Given the description of an element on the screen output the (x, y) to click on. 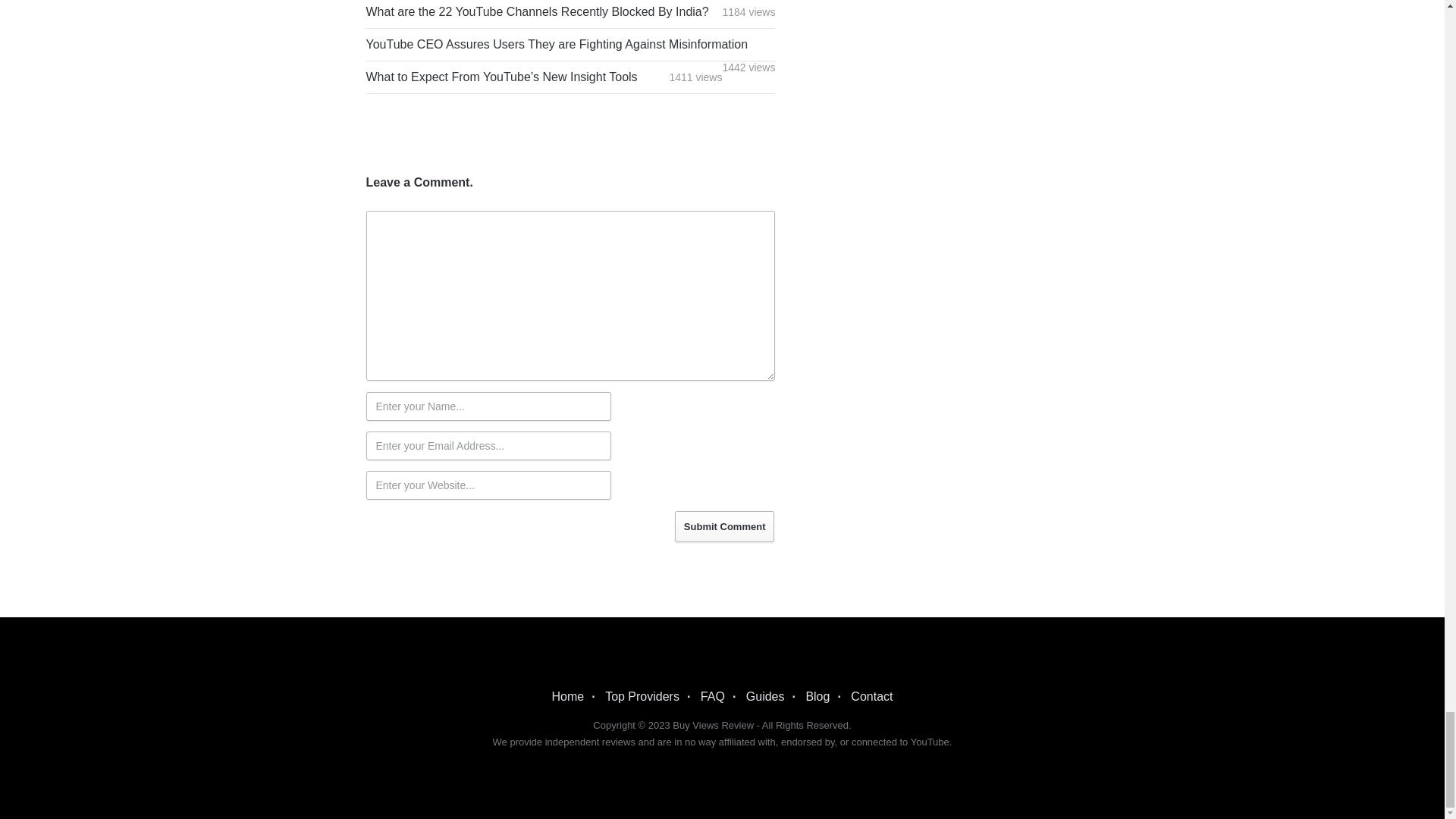
Submit Comment (724, 526)
Home (568, 696)
What are the 22 YouTube Channels Recently Blocked By India? (536, 11)
Top Providers (642, 696)
Submit Comment (724, 526)
